Given the description of an element on the screen output the (x, y) to click on. 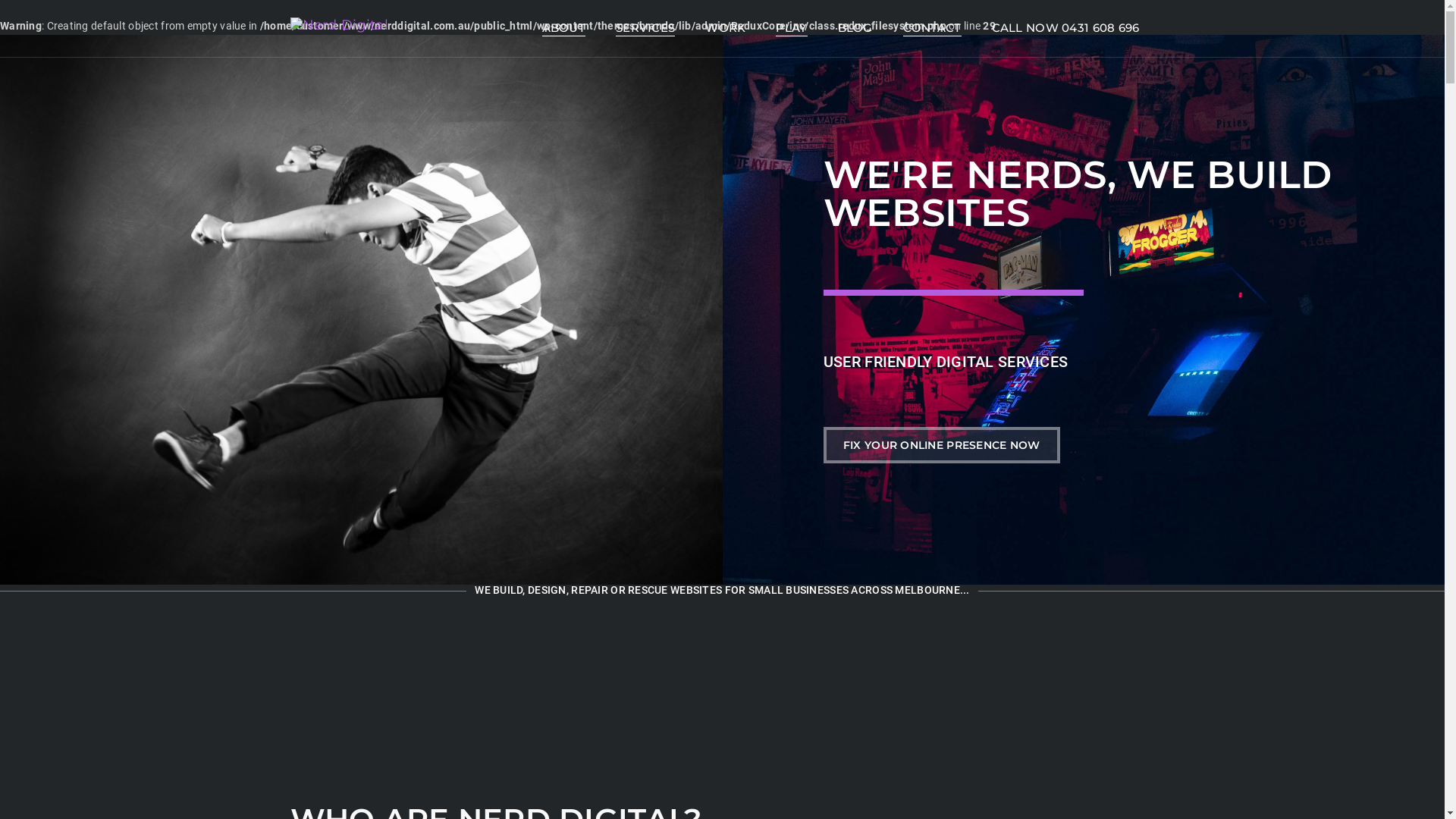
BLOG Element type: text (854, 27)
FIX YOUR ONLINE PRESENCE NOW Element type: text (941, 444)
WORK Element type: text (725, 27)
PLAY Element type: text (790, 28)
CONTACT Element type: text (932, 28)
CALL NOW 0431 608 696 Element type: text (1065, 27)
ABOUT Element type: text (563, 28)
SERVICES Element type: text (644, 28)
